Given the description of an element on the screen output the (x, y) to click on. 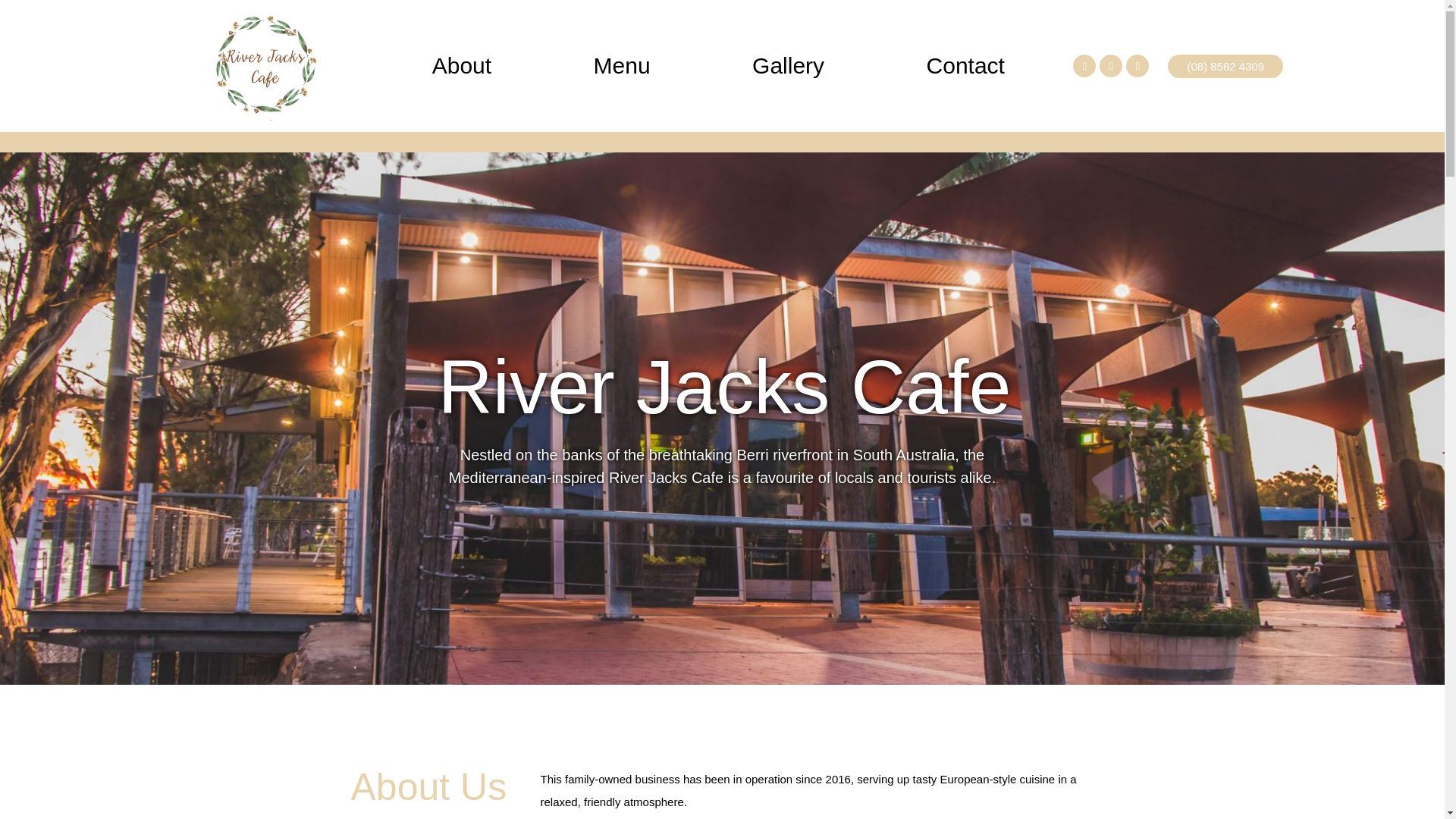
About (460, 65)
Menu (621, 65)
Contact (965, 65)
Gallery (788, 65)
